Given the description of an element on the screen output the (x, y) to click on. 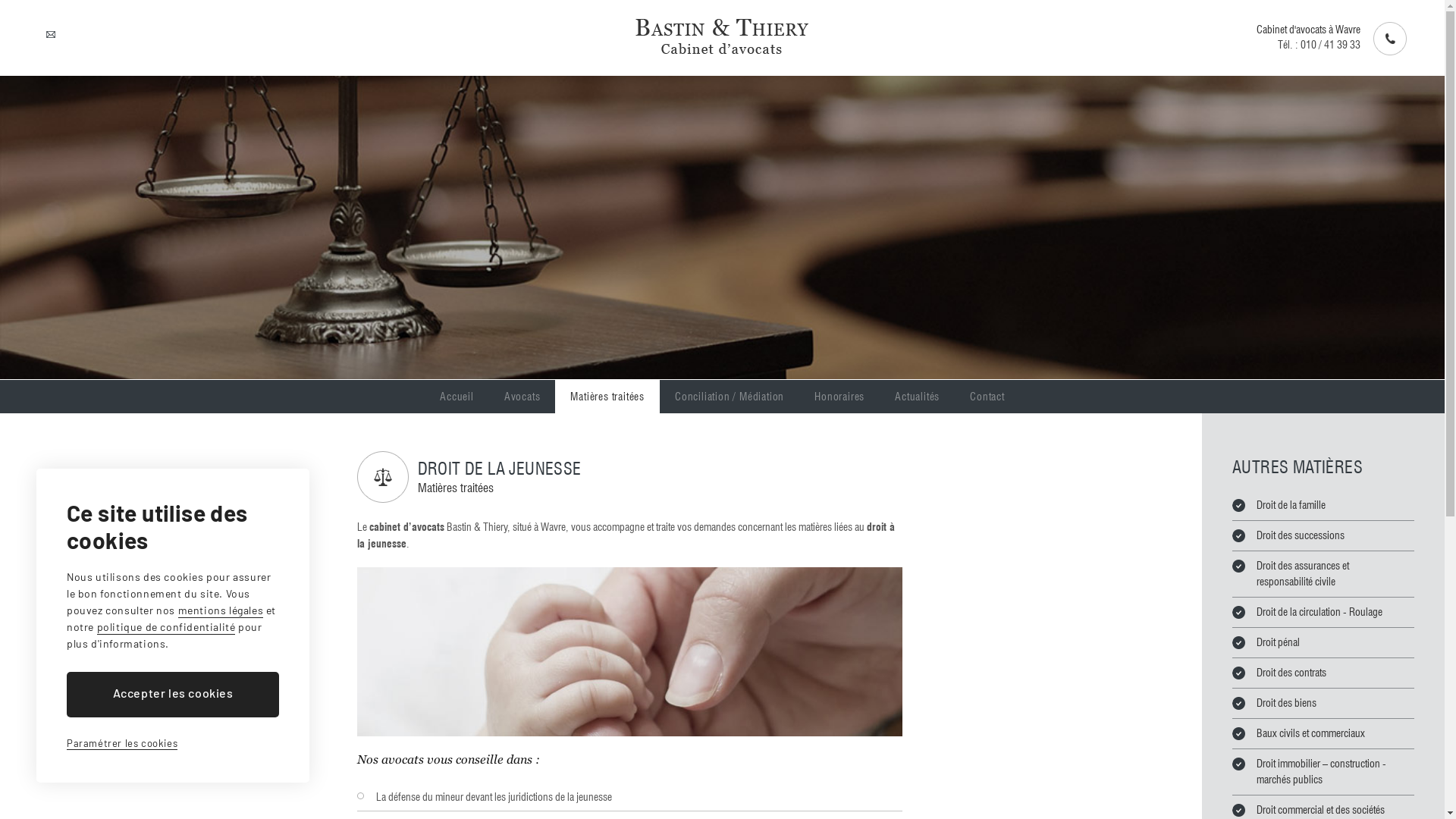
Bastin & Thiery Element type: hover (721, 35)
Droit des contrats Element type: text (1284, 672)
Accueil Element type: text (456, 396)
Droit de la jeunesse Element type: hover (628, 651)
Contact Element type: text (986, 396)
Droit de la famille Element type: text (1284, 505)
Honoraires Element type: text (839, 396)
Bastin & Thiery Element type: hover (722, 35)
Droit des biens Element type: text (1279, 703)
Droit de la circulation - Roulage Element type: text (1312, 612)
Droit des successions Element type: text (1293, 535)
Baux civils et commerciaux Element type: text (1304, 733)
Avocats Element type: text (522, 396)
